Given the description of an element on the screen output the (x, y) to click on. 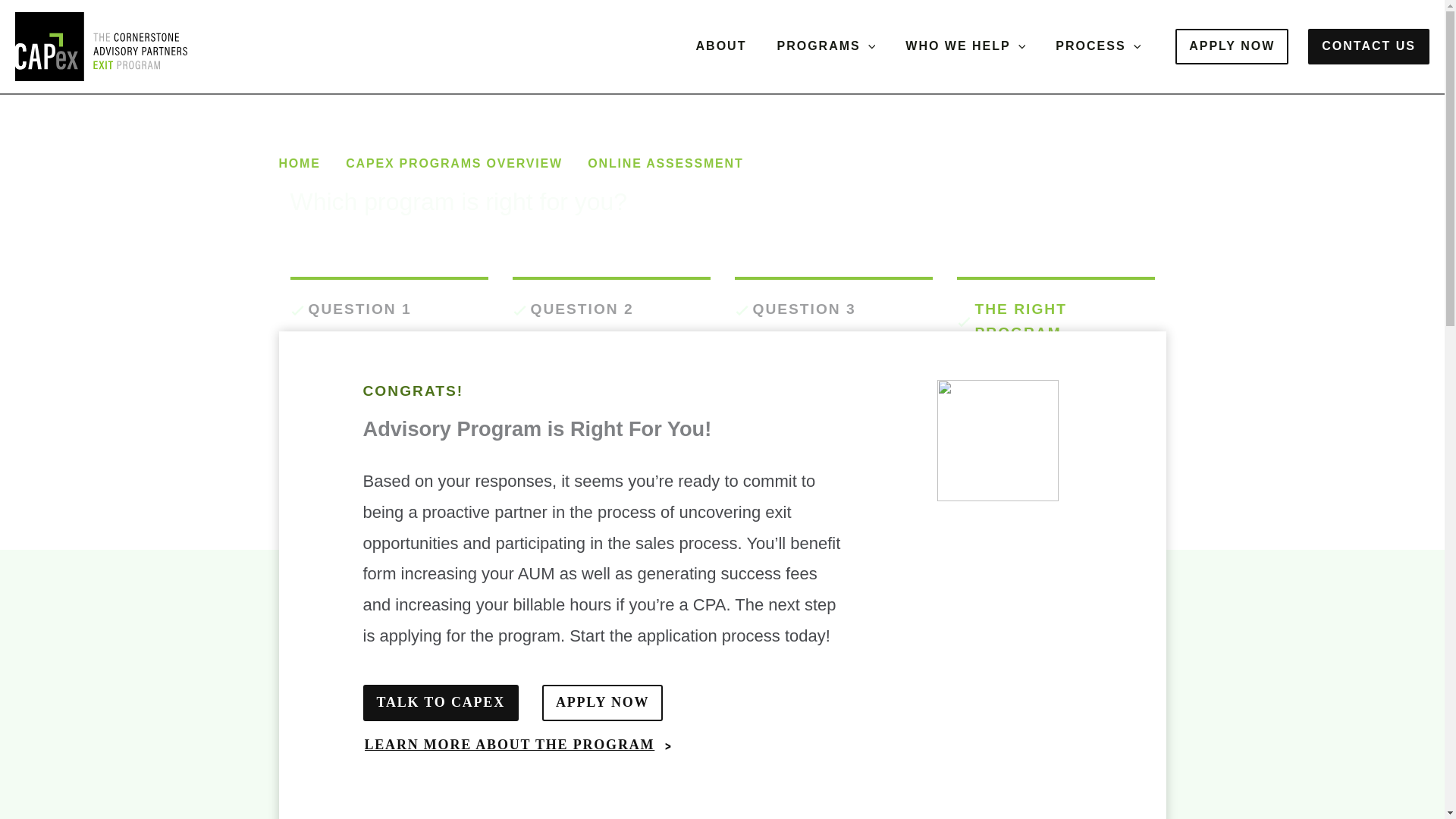
APPLY NOW (1231, 46)
ABOUT (721, 46)
PROCESS (1098, 46)
WHO WE HELP (965, 46)
CONTACT US (1368, 46)
PROGRAMS (825, 46)
